Given the description of an element on the screen output the (x, y) to click on. 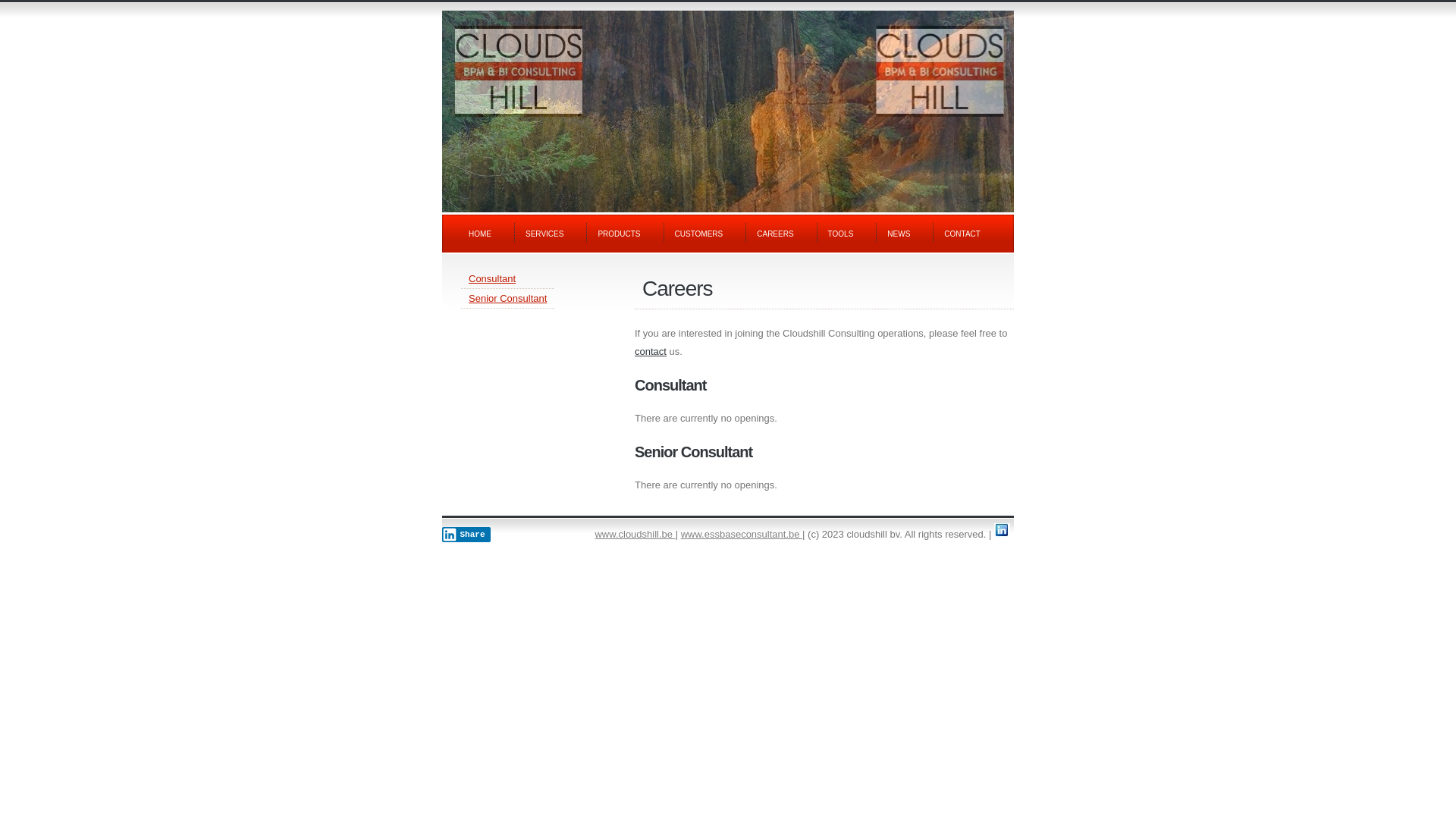
www.cloudshill.be Element type: text (634, 533)
PRODUCTS Element type: text (624, 235)
NEWS Element type: text (903, 235)
CUSTOMERS Element type: text (704, 235)
contact Element type: text (650, 351)
SERVICES Element type: text (550, 235)
Erik De Rouck on Linkedin Element type: hover (1002, 530)
Consultant Element type: text (491, 278)
www.essbaseconsultant.be Element type: text (741, 533)
CONTACT Element type: text (967, 235)
Senior Consultant Element type: text (823, 452)
HOME Element type: text (485, 235)
Share Element type: text (466, 534)
CAREERS Element type: text (780, 235)
Senior Consultant Element type: text (507, 298)
TOOLS Element type: text (846, 235)
Consultant Element type: text (823, 385)
